Given the description of an element on the screen output the (x, y) to click on. 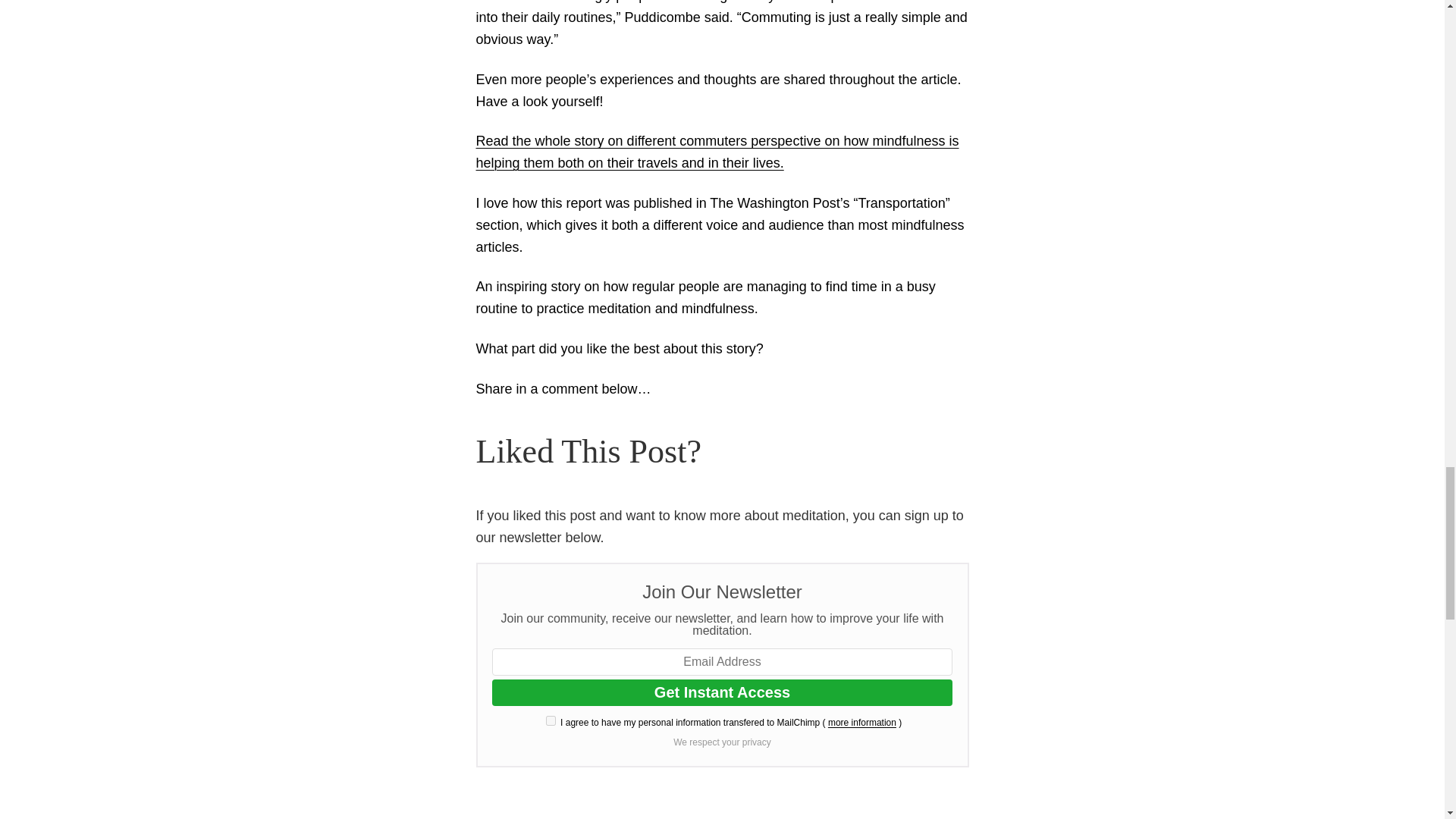
Get Instant Access (722, 692)
more information (862, 722)
on (551, 720)
Get Instant Access (722, 692)
